Given the description of an element on the screen output the (x, y) to click on. 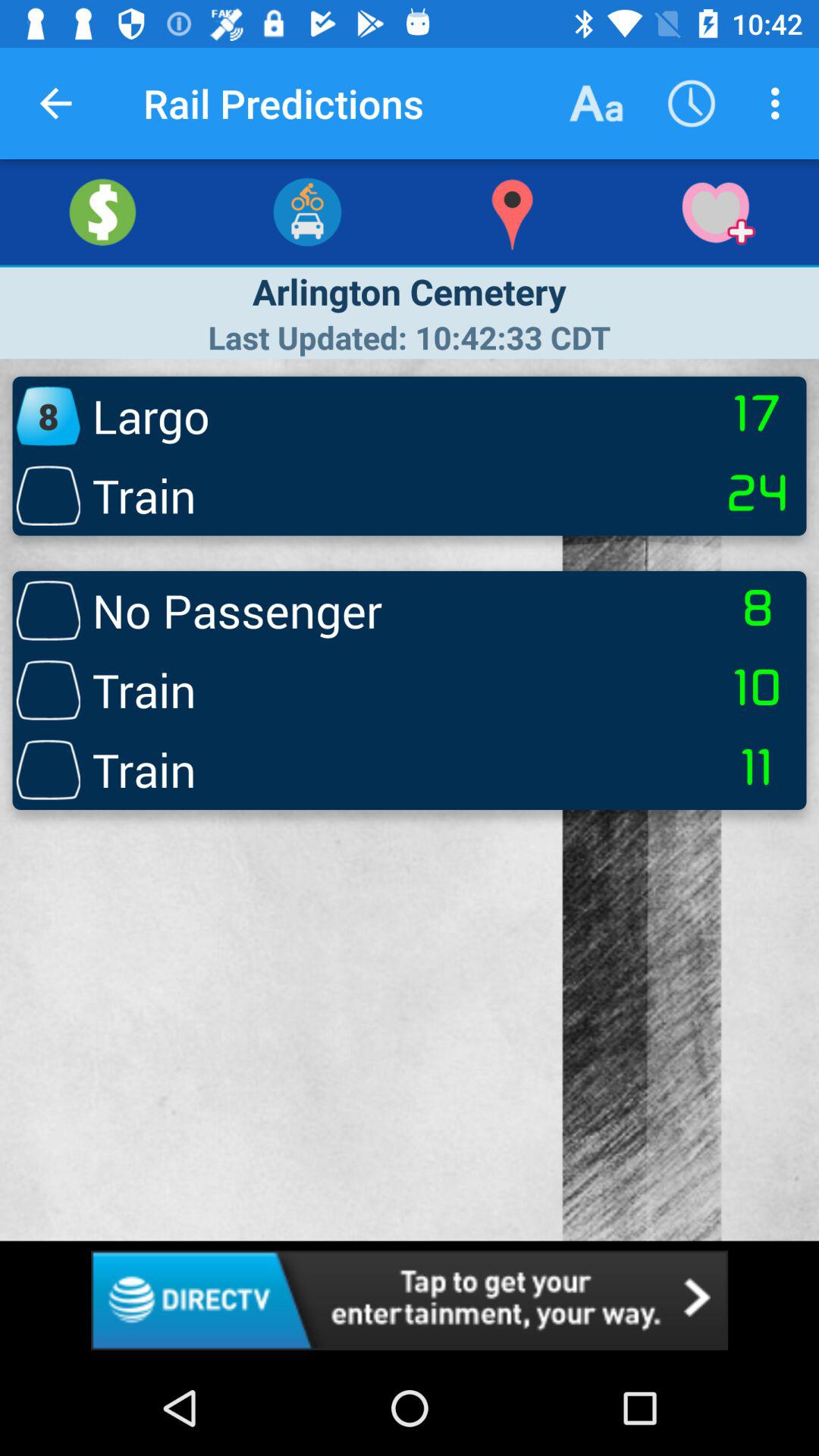
visit advertised site (409, 1300)
